Given the description of an element on the screen output the (x, y) to click on. 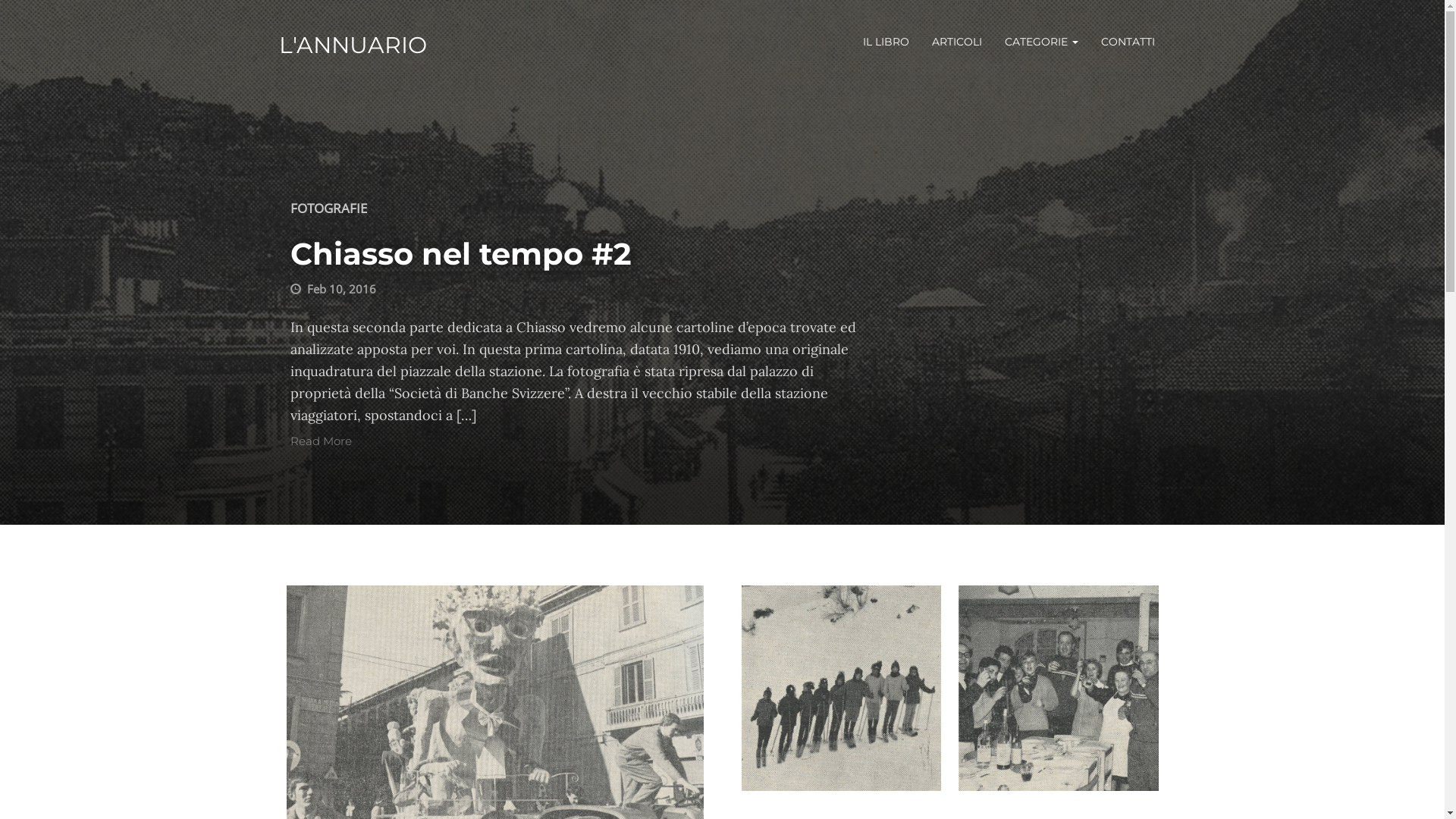
L'ANNUARIO Element type: text (352, 45)
ARTICOLI Element type: text (956, 41)
IL LIBRO Element type: text (884, 41)
Read More Element type: text (320, 440)
CATEGORIE Element type: text (1041, 41)
CONTATTI Element type: text (1126, 41)
Chiasso nel tempo #2 Element type: text (459, 254)
FOTOGRAFIE Element type: text (327, 207)
Feb 10, 2016 Element type: text (341, 288)
